Given the description of an element on the screen output the (x, y) to click on. 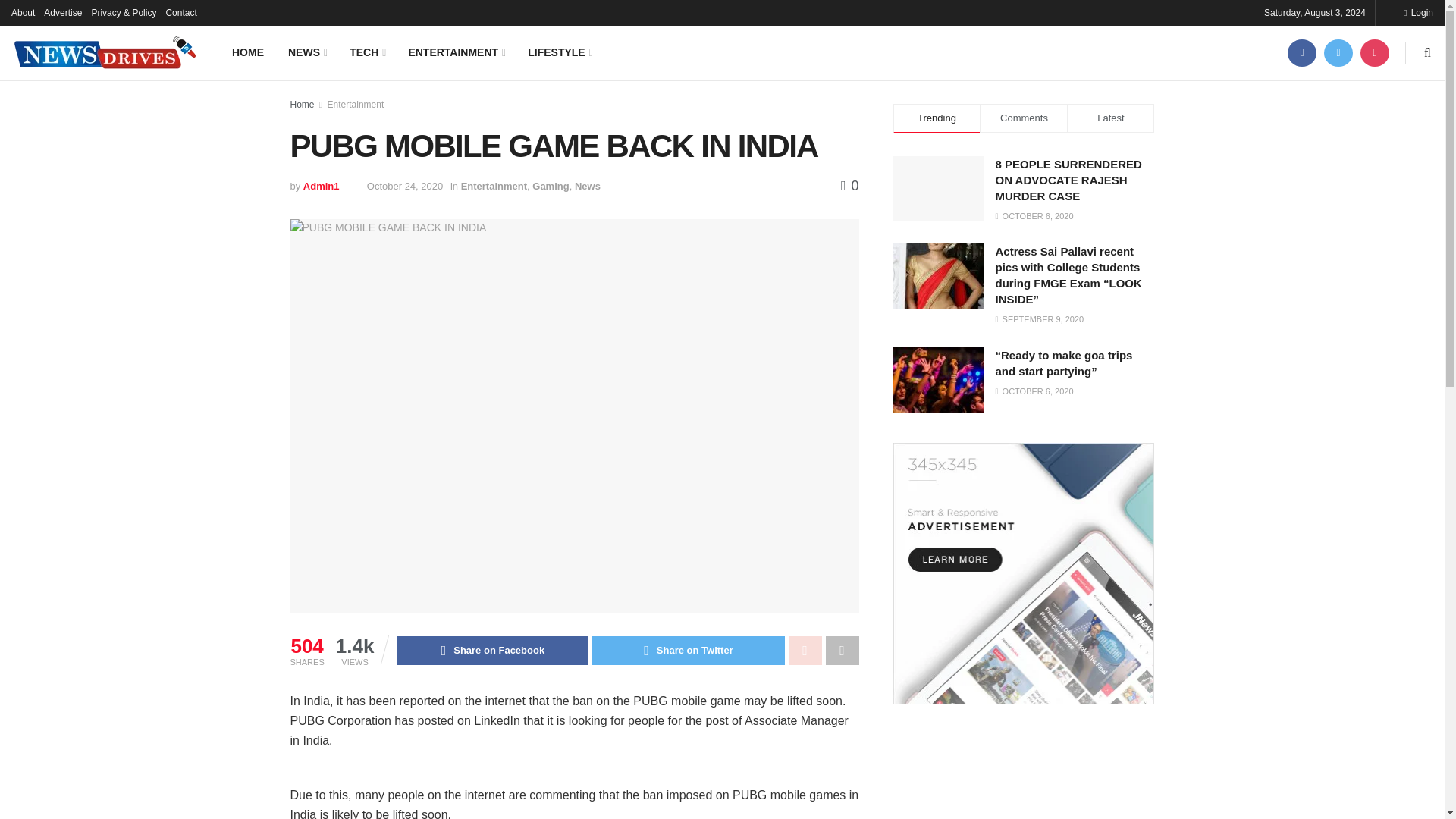
Contact (180, 12)
About (22, 12)
NEWS (306, 52)
Login (1417, 12)
Advertise (62, 12)
HOME (247, 52)
